Given the description of an element on the screen output the (x, y) to click on. 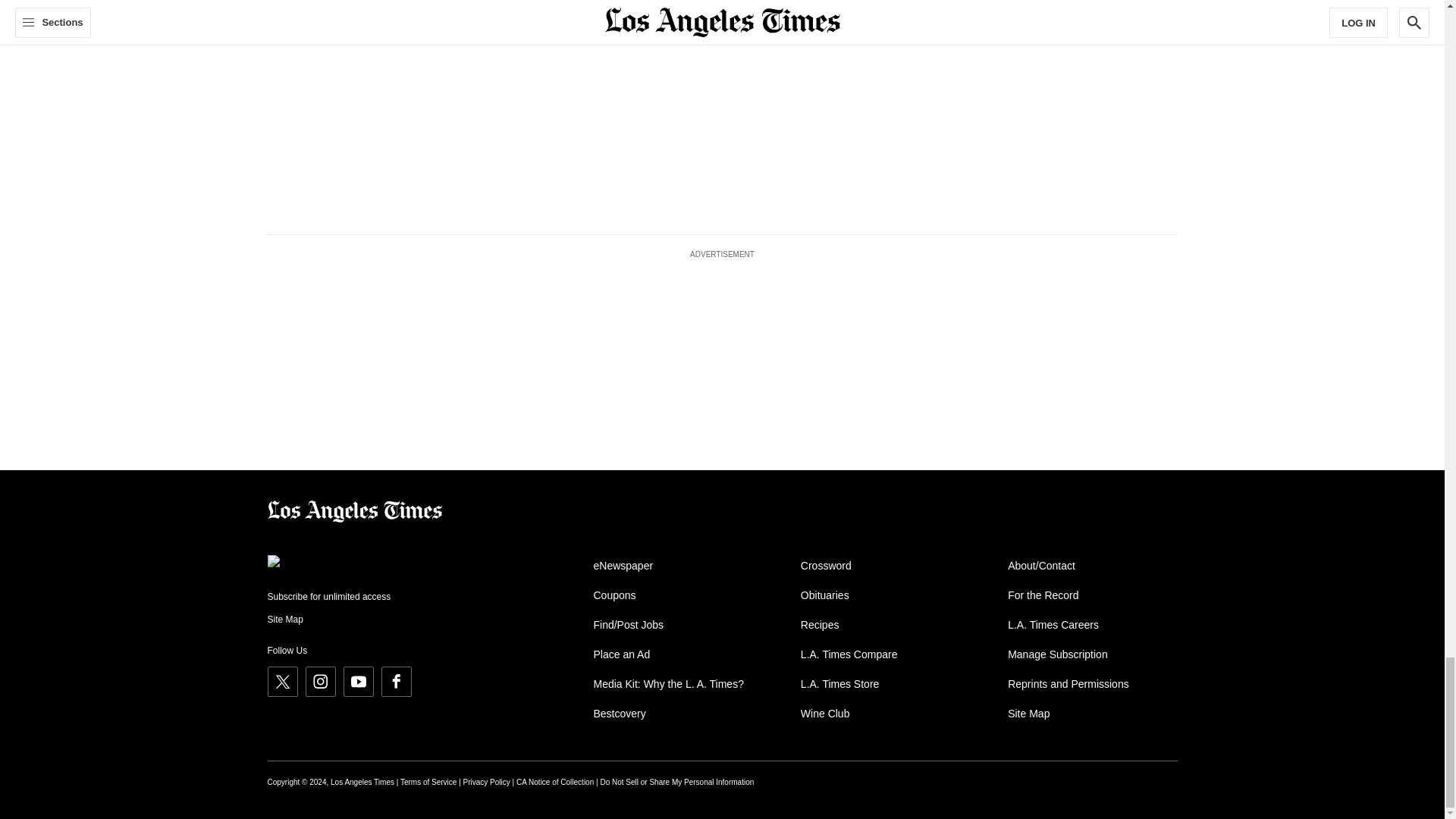
3rd party ad content (1040, 105)
